Given the description of an element on the screen output the (x, y) to click on. 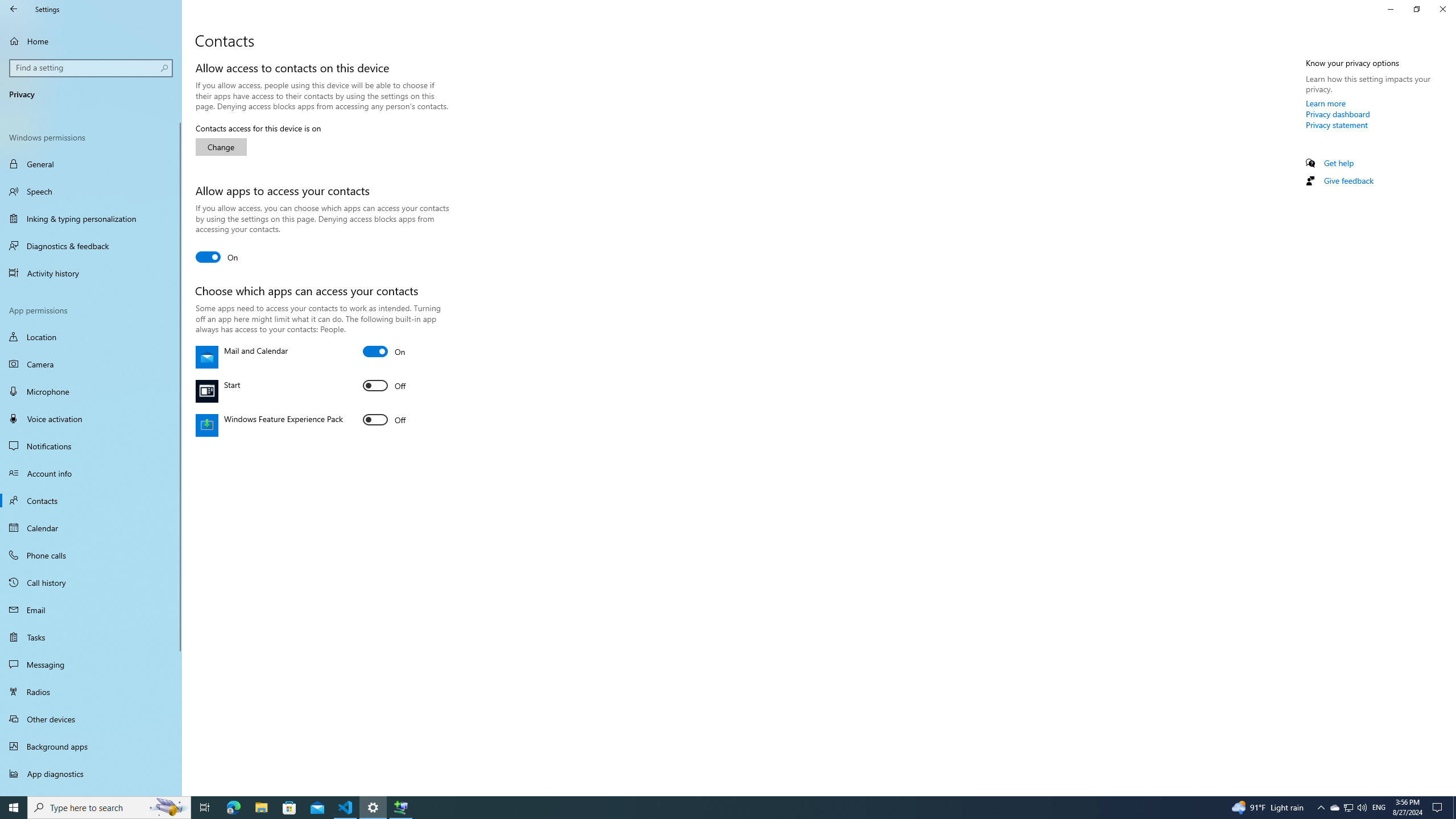
Restore Settings (1416, 9)
Call history (91, 582)
General (91, 163)
Allow apps to access your contacts (216, 257)
Search highlights icon opens search home window (167, 807)
Q2790: 100% (1361, 807)
Home (91, 40)
App diagnostics (91, 773)
Diagnostics & feedback (91, 245)
Settings - 1 running window (373, 807)
Privacy statement (1336, 124)
Mail and Calendar (384, 351)
Tray Input Indicator - English (United States) (1378, 807)
Tasks (91, 636)
Activity history (91, 272)
